Given the description of an element on the screen output the (x, y) to click on. 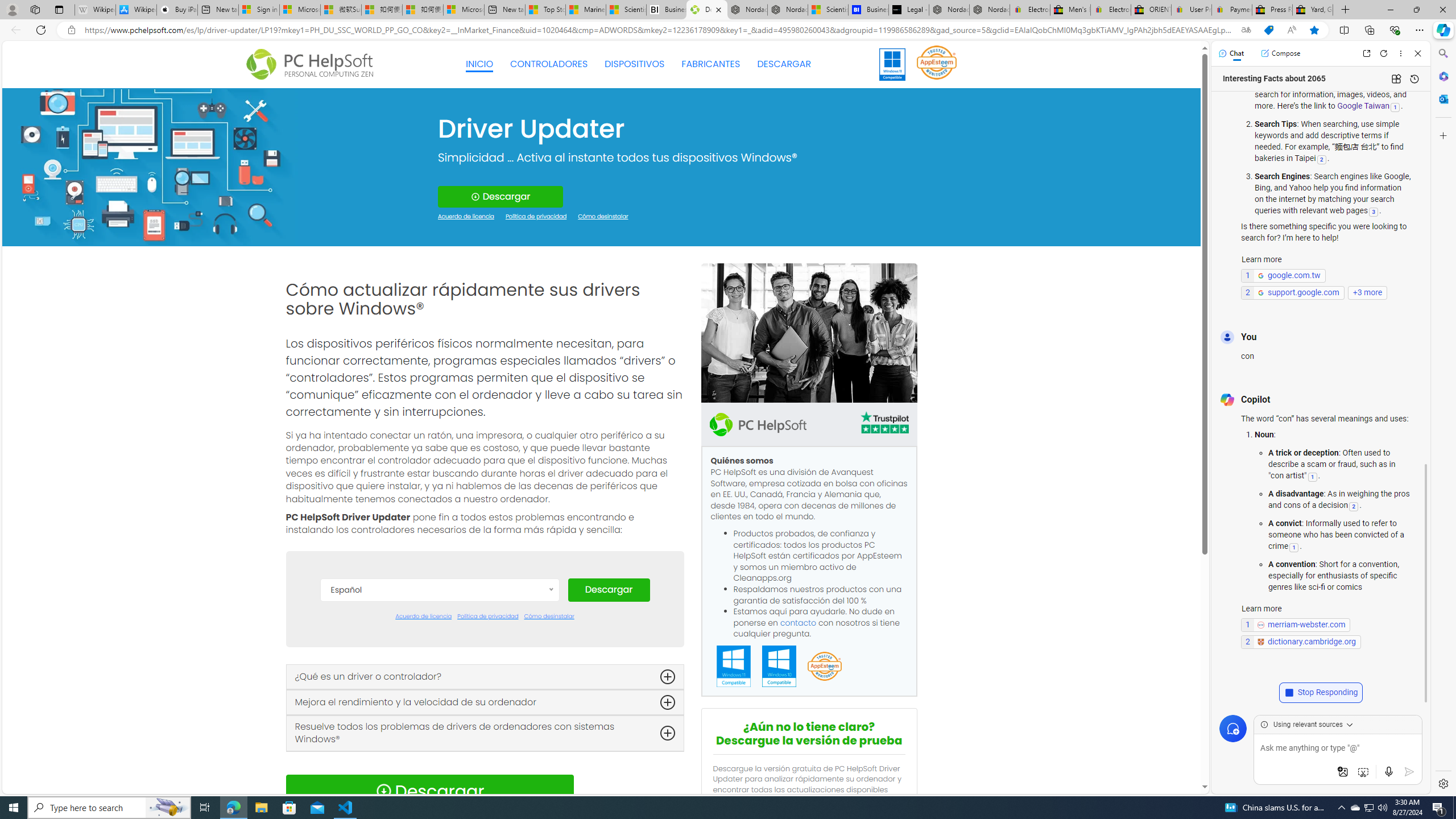
INICIO (479, 64)
Show translate options (1245, 29)
DISPOSITIVOS (634, 64)
PCHelpsoft (757, 423)
Dansk (439, 643)
Italiano (439, 746)
CONTROLADORES (548, 64)
App Esteem (823, 666)
Sign in to your Microsoft account (258, 9)
